Given the description of an element on the screen output the (x, y) to click on. 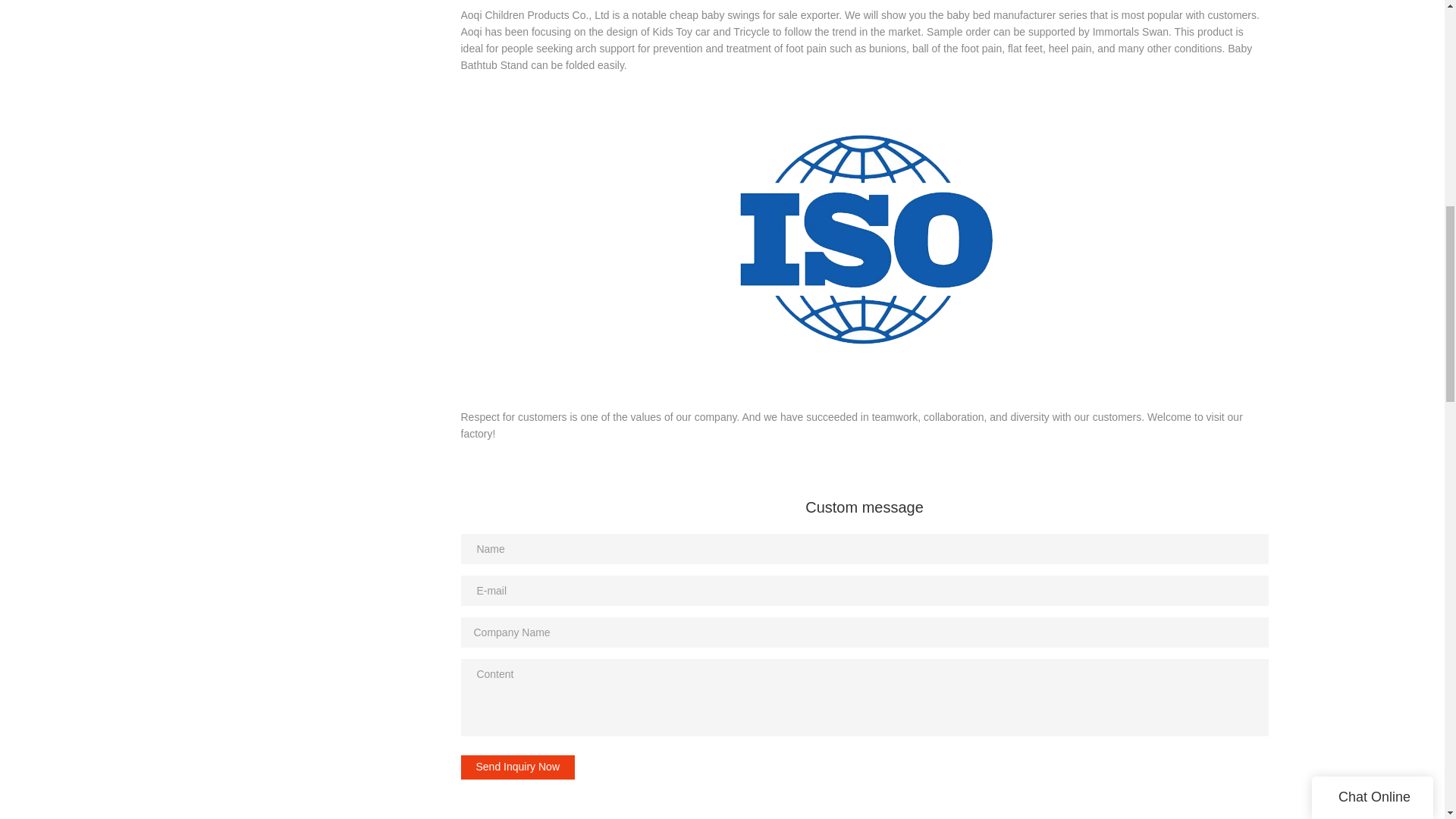
Send Inquiry Now (518, 767)
